Given the description of an element on the screen output the (x, y) to click on. 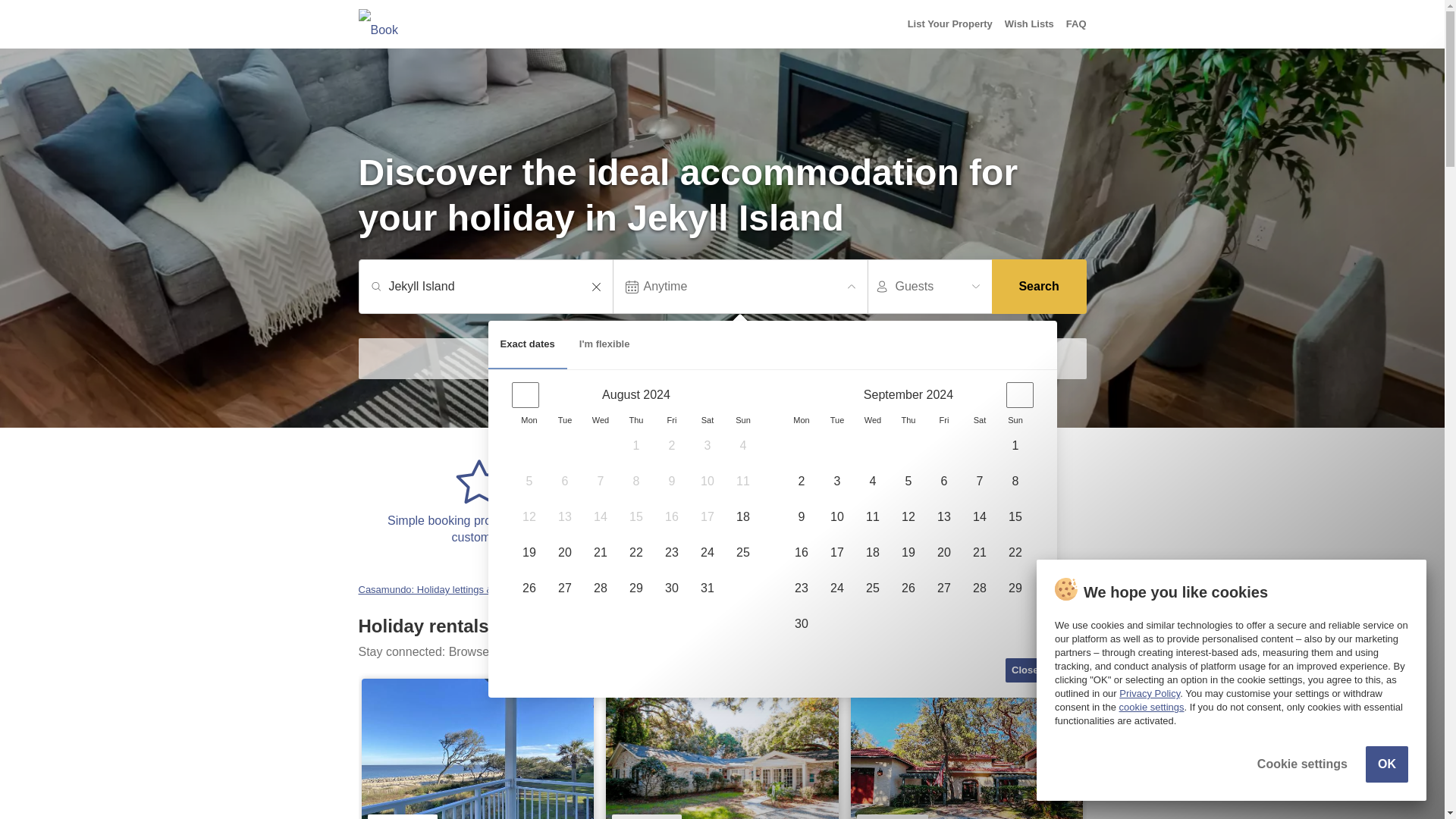
Mon (529, 420)
Jekyll Island (493, 286)
OK (1386, 764)
Close (1024, 670)
Tue (564, 420)
Fri (944, 420)
Thu (635, 420)
Sun (1015, 420)
Wed (600, 420)
United States (575, 589)
